Given the description of an element on the screen output the (x, y) to click on. 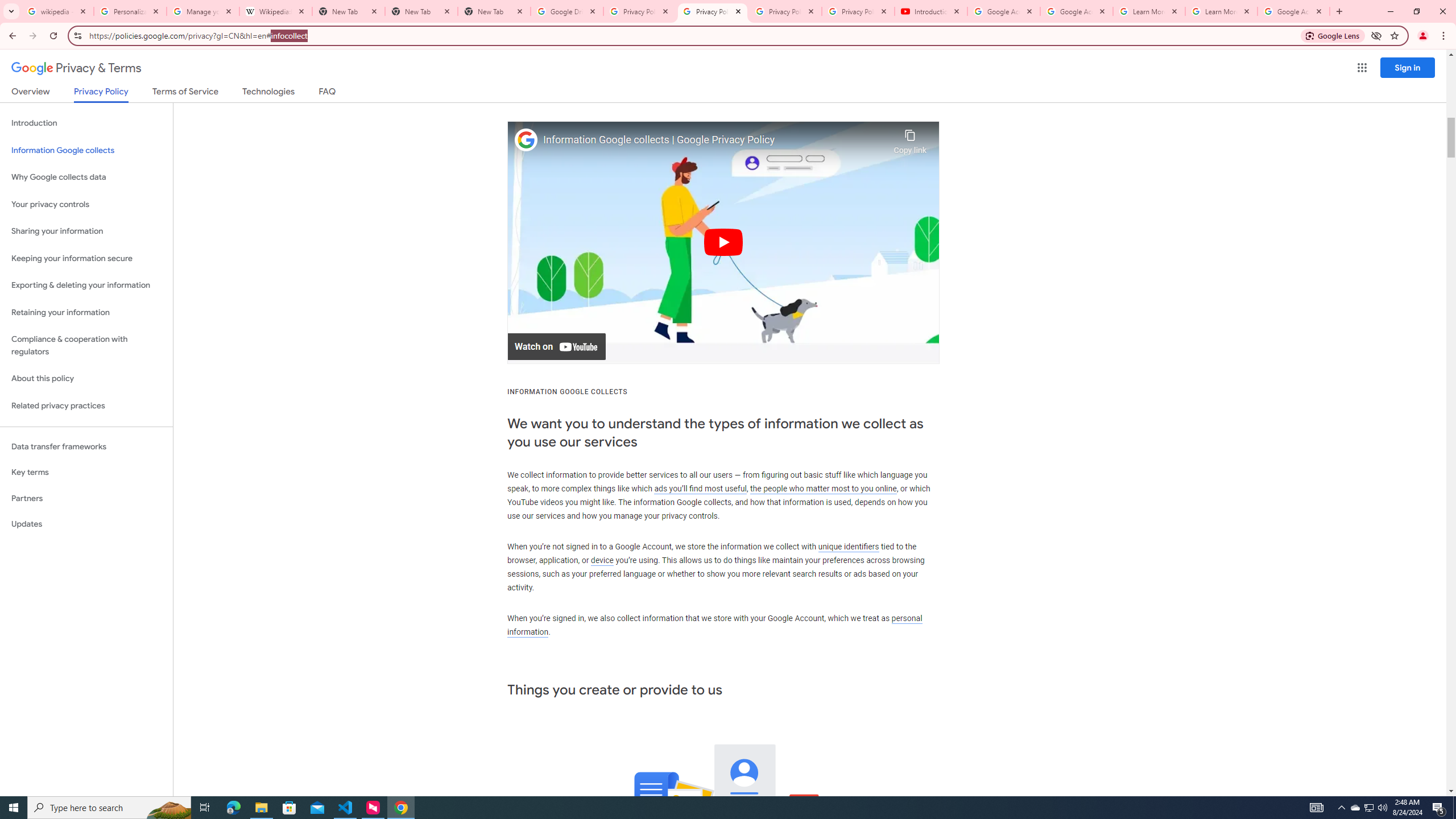
New Tab (493, 11)
the people who matter most to you online (822, 488)
Google Drive: Sign-in (566, 11)
Copy link (909, 139)
Why Google collects data (86, 176)
Related privacy practices (86, 405)
Google Account Help (1003, 11)
Google Account (1293, 11)
unique identifiers (848, 546)
Search with Google Lens (1332, 35)
